Given the description of an element on the screen output the (x, y) to click on. 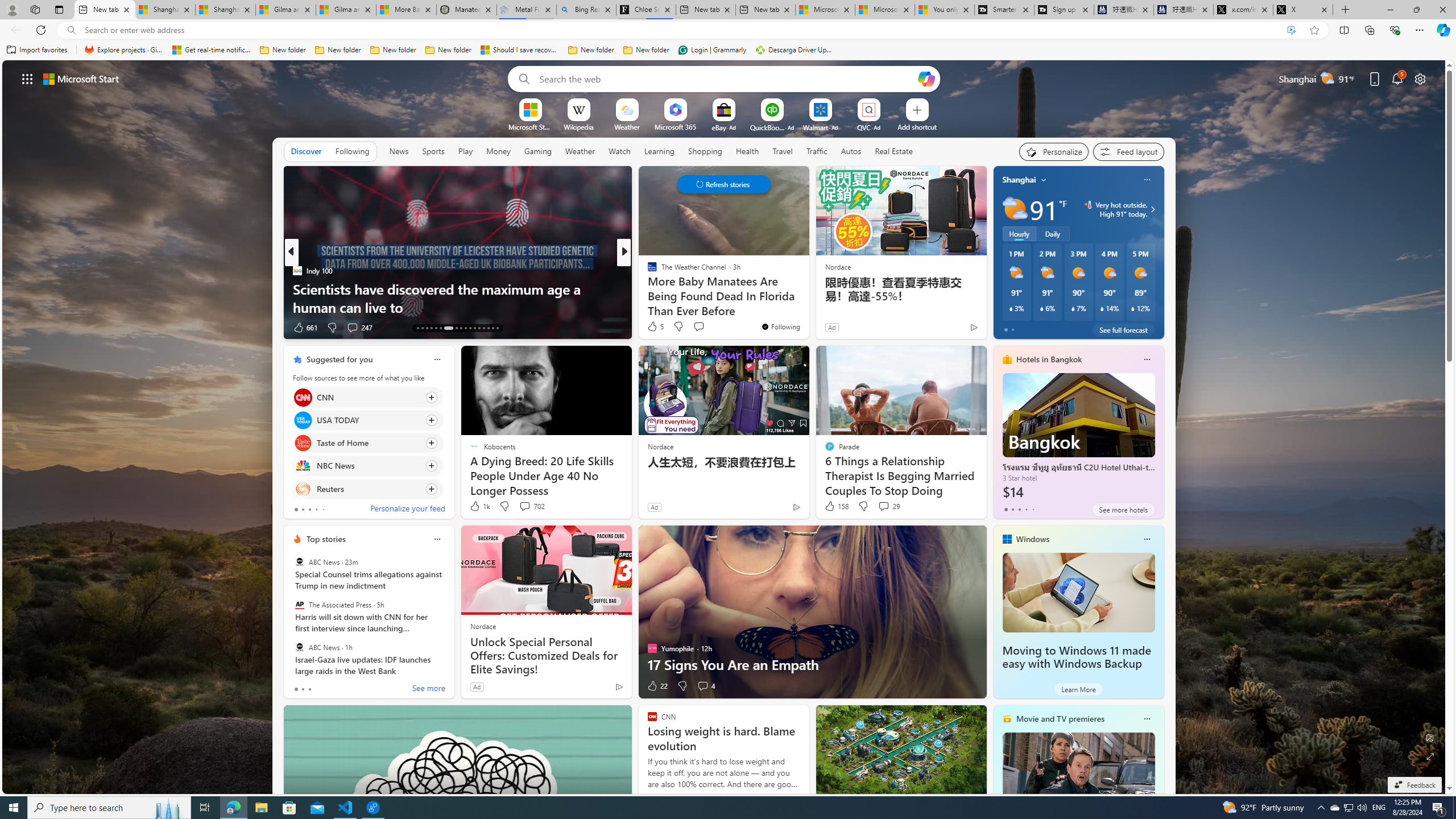
Taste of Home (302, 443)
AutomationID: tab-39 (483, 328)
Weather (580, 151)
See more hotels (1123, 509)
Page settings (1420, 78)
previous (998, 252)
AutomationID: tab-18 (440, 328)
Windows (1032, 538)
75 Like (652, 327)
